Given the description of an element on the screen output the (x, y) to click on. 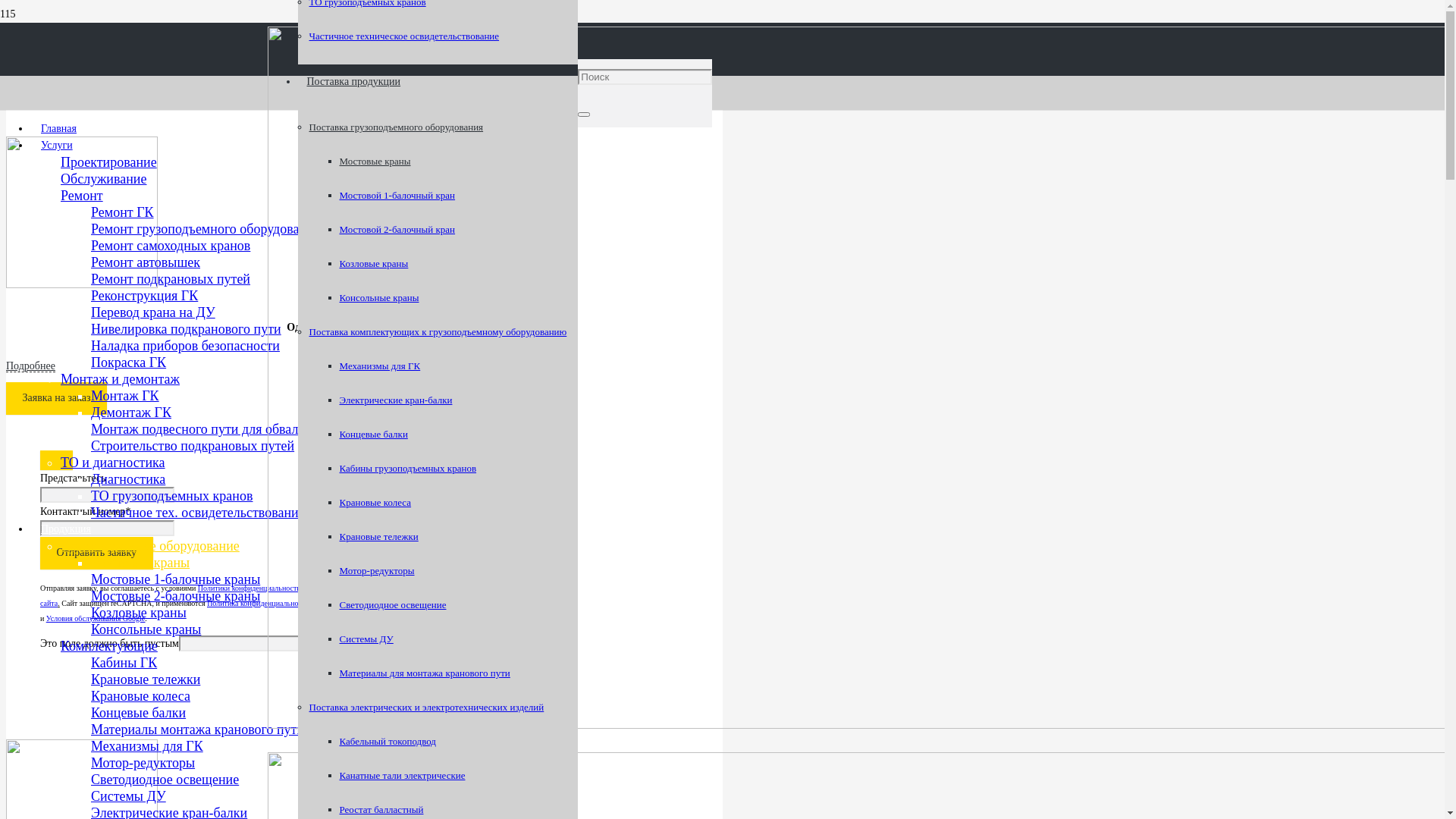
submit Element type: text (56, 460)
